Given the description of an element on the screen output the (x, y) to click on. 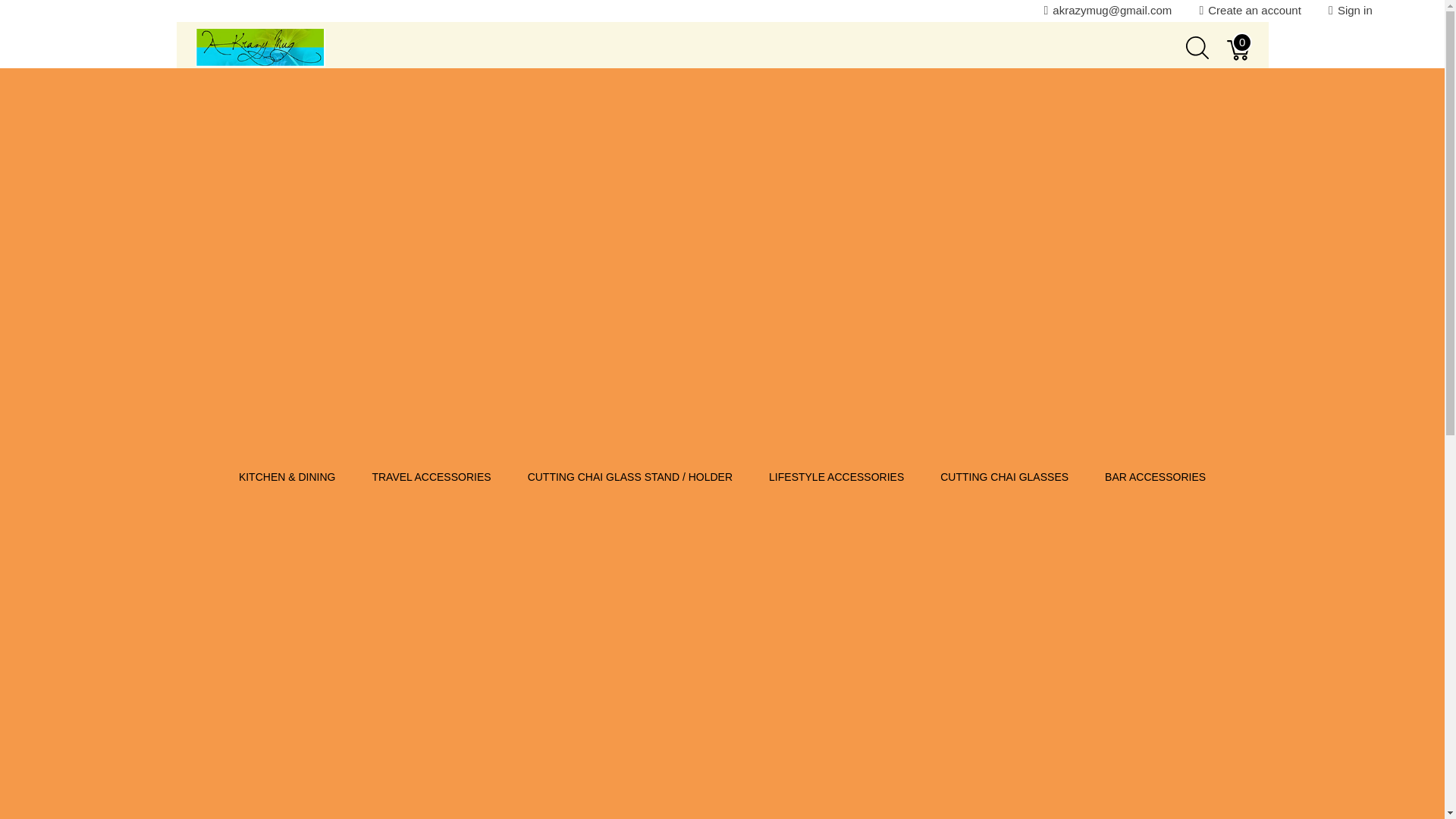
akrazymug (260, 47)
Create an account (1254, 10)
1 (855, 283)
0 (1238, 47)
Sign in (1355, 10)
